Given the description of an element on the screen output the (x, y) to click on. 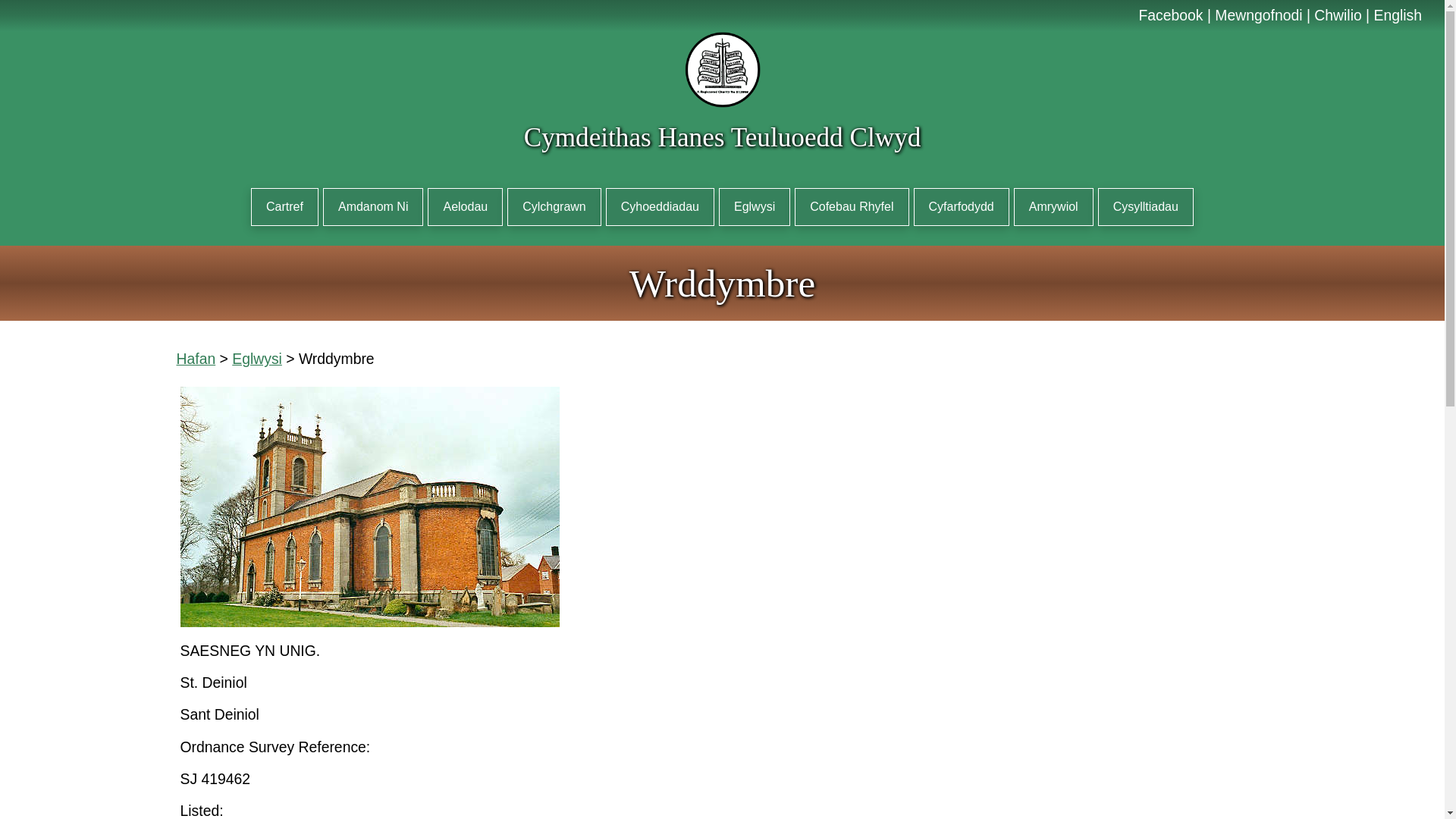
Cofebau Rhyfel (851, 207)
Cartref (284, 207)
Facebook (1171, 14)
Amrywiol (1053, 207)
Chwilio (1337, 14)
Mewngofnodi (1257, 14)
Cysylltiadau (1145, 207)
Aelodau (465, 207)
Cyhoeddiadau (659, 207)
Eglwysi (256, 358)
Amdanom Ni (373, 207)
Eglwysi (754, 207)
Hafan (195, 358)
Cyfarfodydd (960, 207)
Cylchgrawn (553, 207)
